Given the description of an element on the screen output the (x, y) to click on. 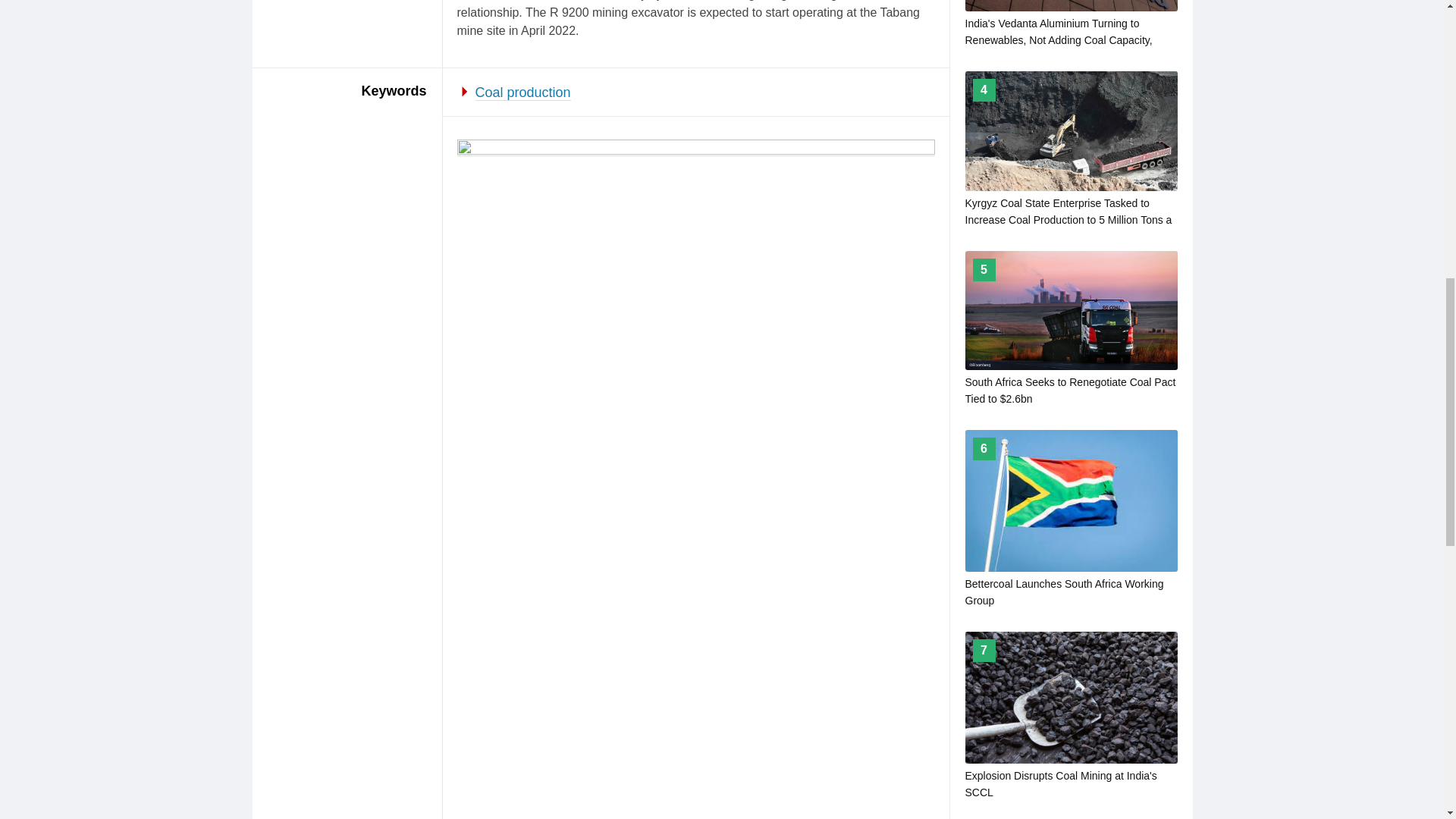
Coal production (523, 92)
